Given the description of an element on the screen output the (x, y) to click on. 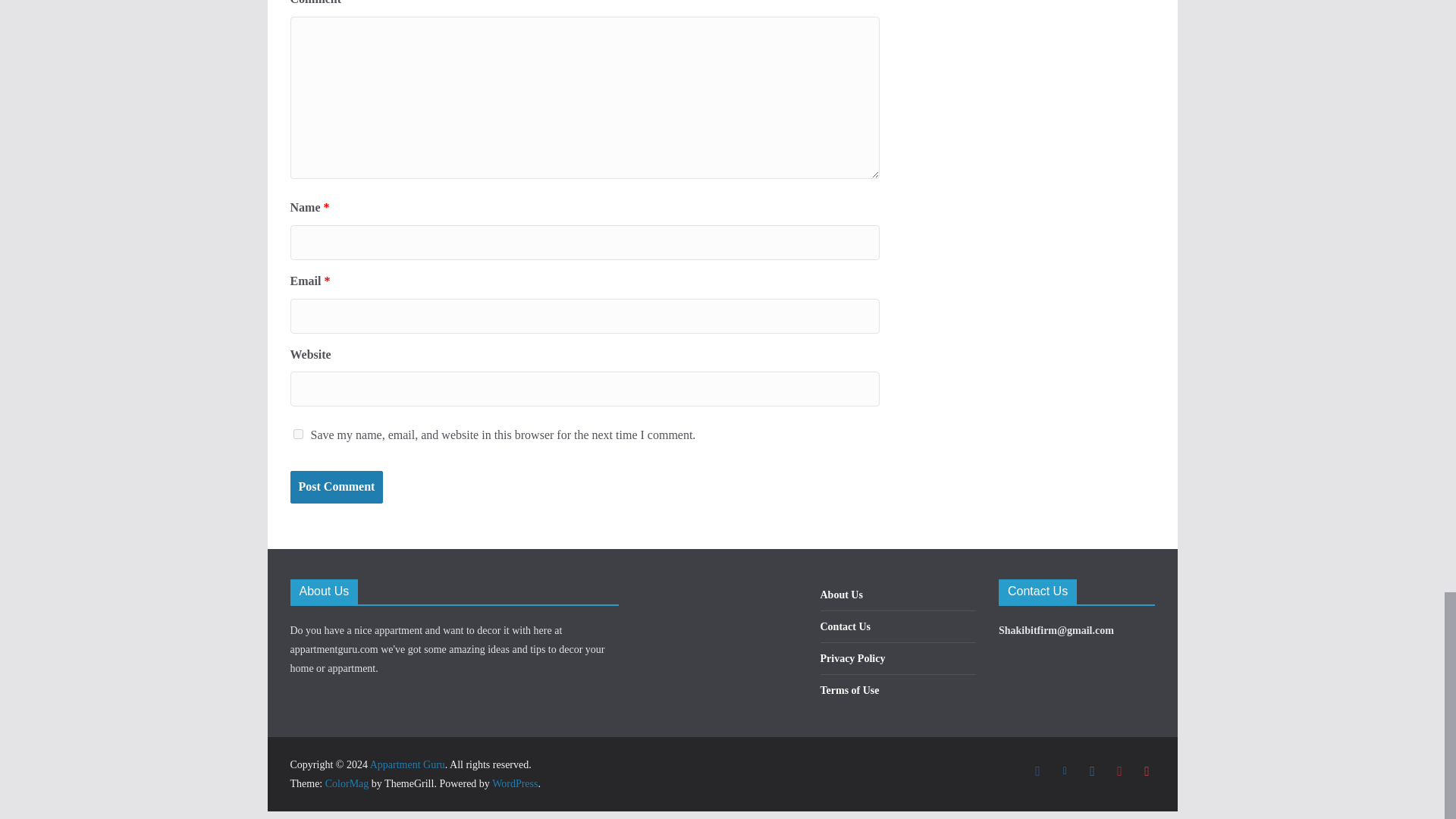
Post Comment (335, 486)
Post Comment (335, 486)
yes (297, 433)
